Given the description of an element on the screen output the (x, y) to click on. 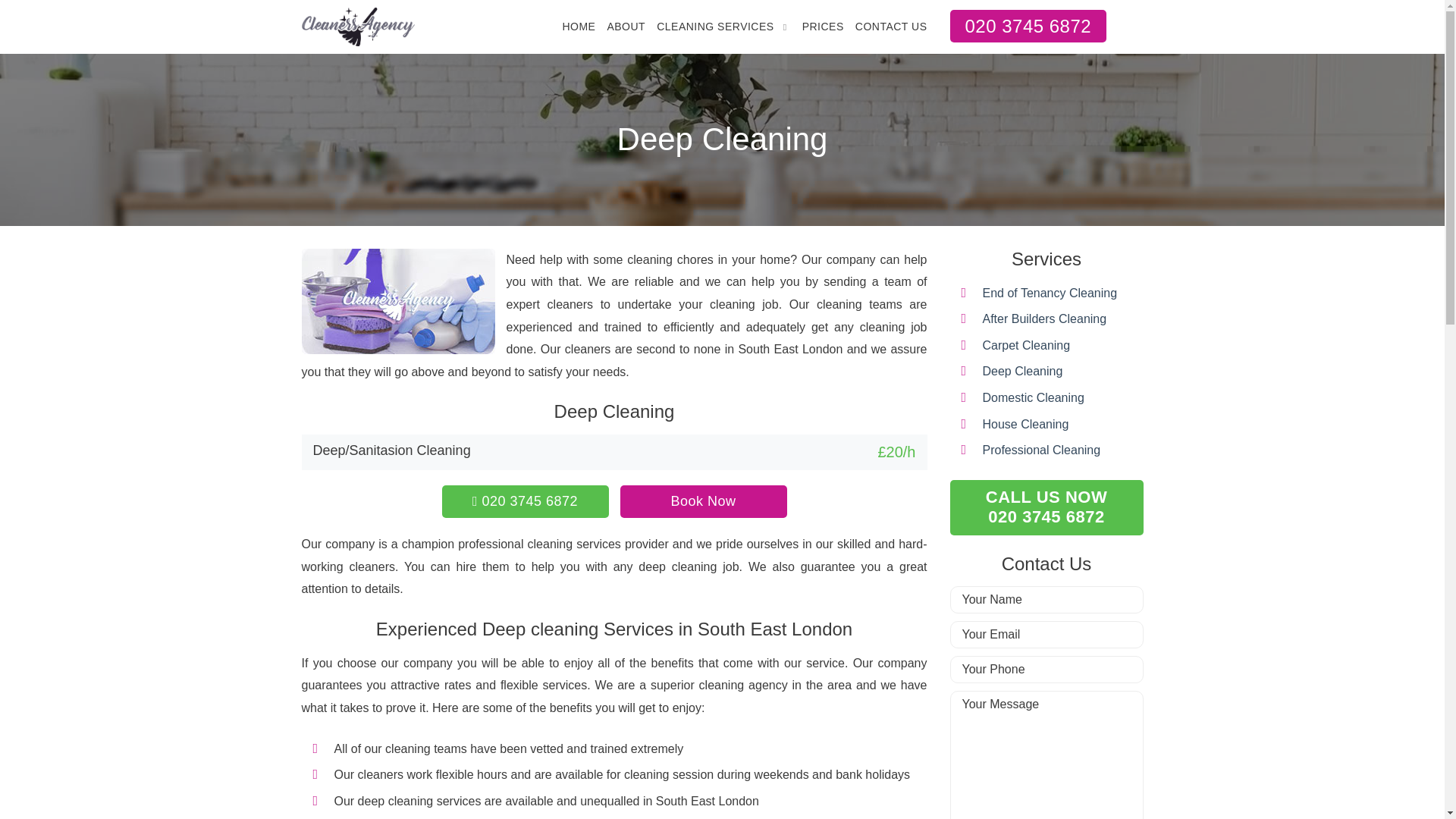
020 3745 6872 (1027, 25)
ABOUT (626, 26)
House Cleaning (1025, 423)
Professional Cleaning (1041, 449)
CONTACT US (891, 26)
Deep Cleaning (1022, 370)
CLEANING SERVICES (715, 26)
End of Tenancy Cleaning (1050, 292)
Carpet Cleaning (1026, 345)
Book Now (703, 501)
